Given the description of an element on the screen output the (x, y) to click on. 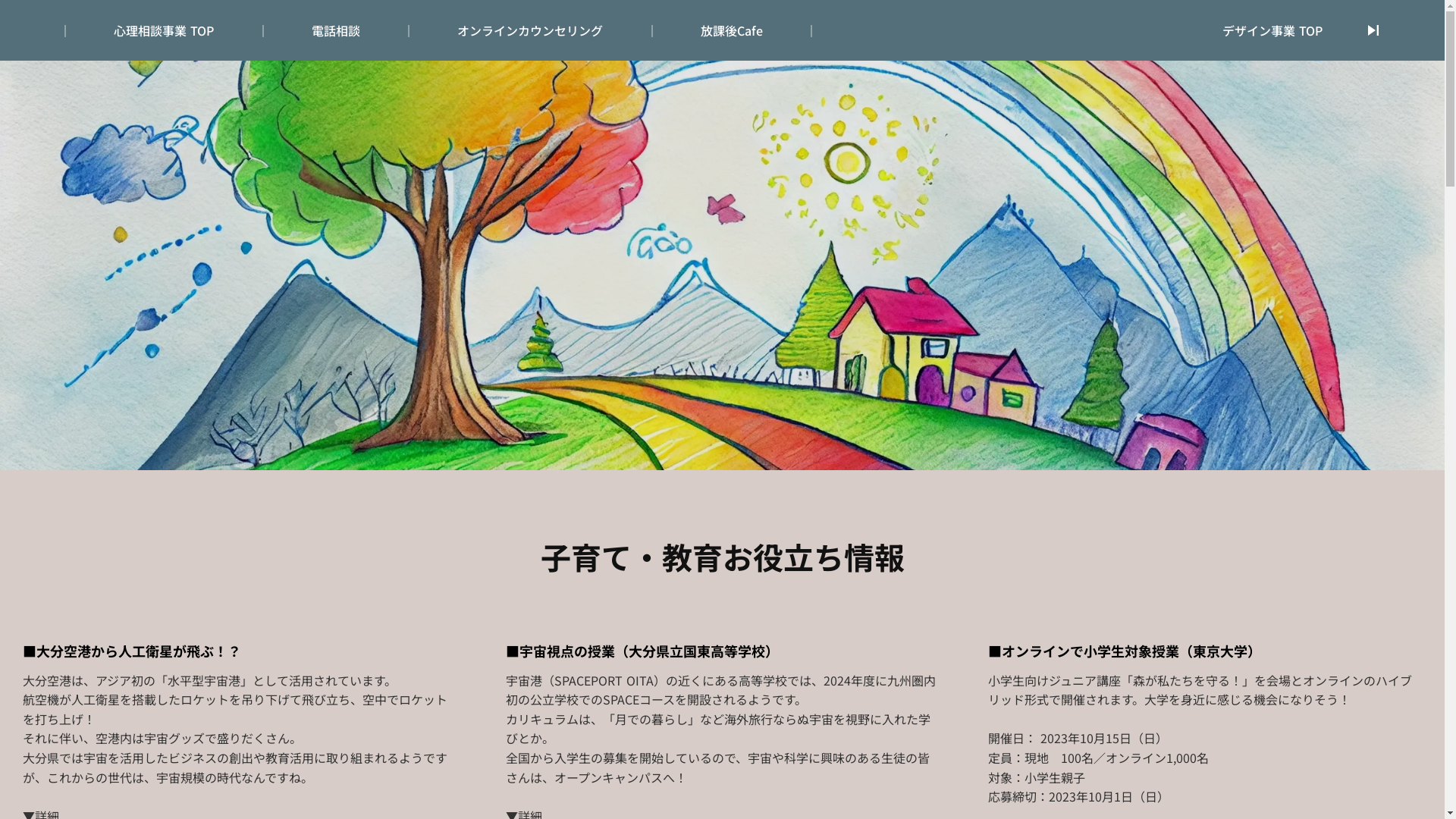
skip_next Element type: text (1372, 29)
